Given the description of an element on the screen output the (x, y) to click on. 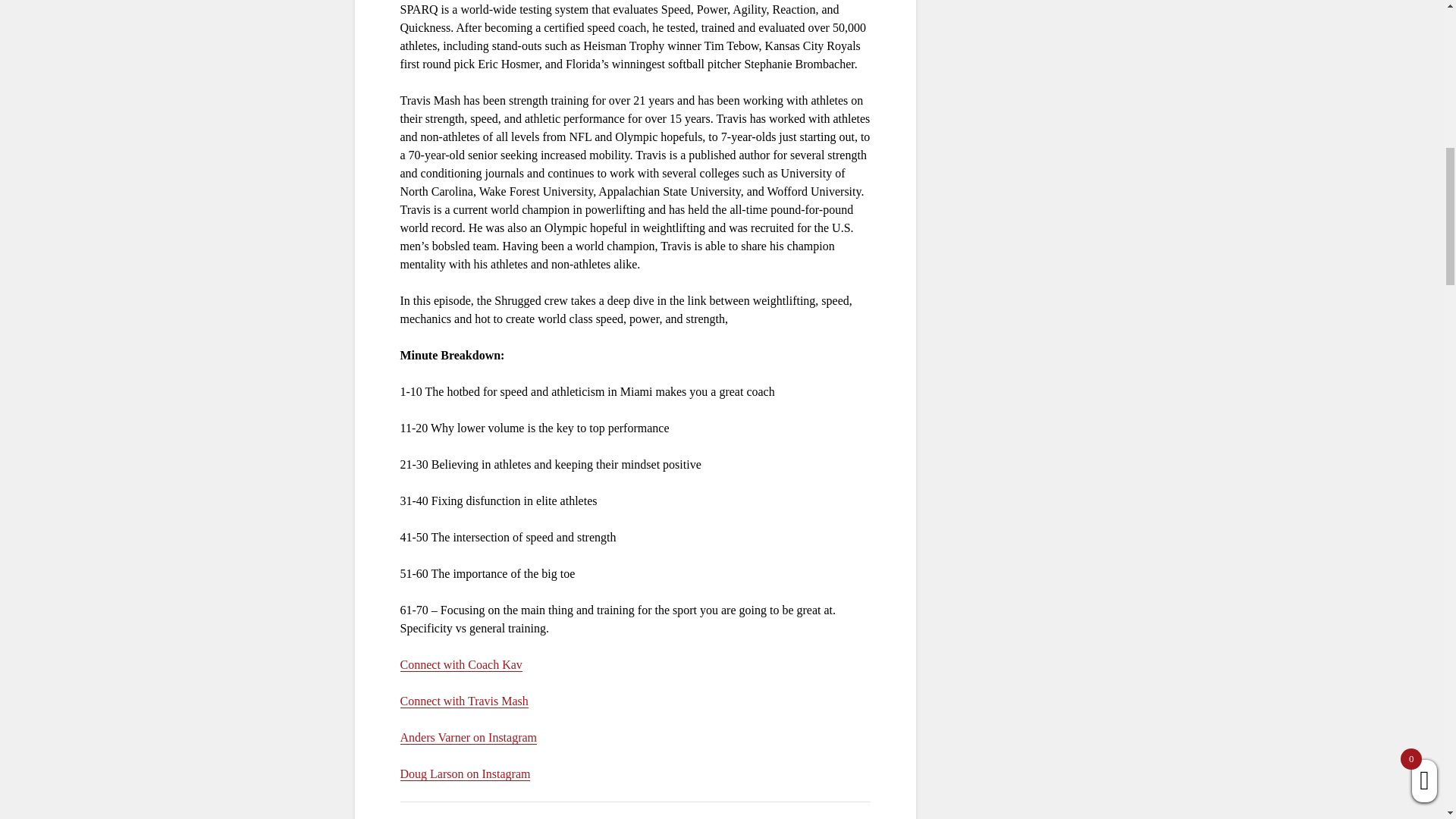
Anders Varner on Instagram (468, 737)
Doug Larson on Instagram (465, 774)
Connect with Coach Kav (461, 664)
Connect with Travis Mash (464, 701)
